Given the description of an element on the screen output the (x, y) to click on. 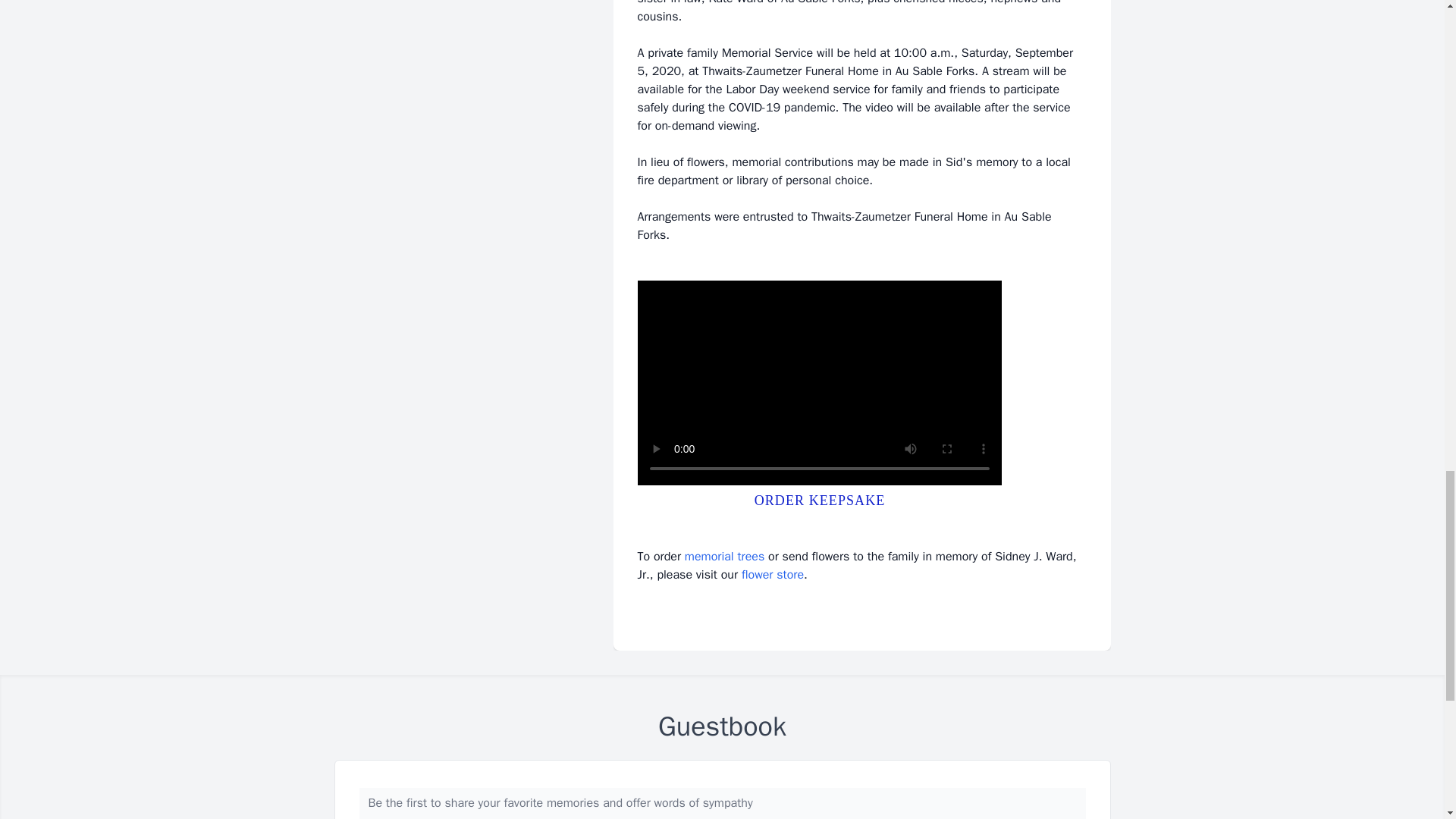
flower store (772, 574)
memorial trees (724, 556)
